Given the description of an element on the screen output the (x, y) to click on. 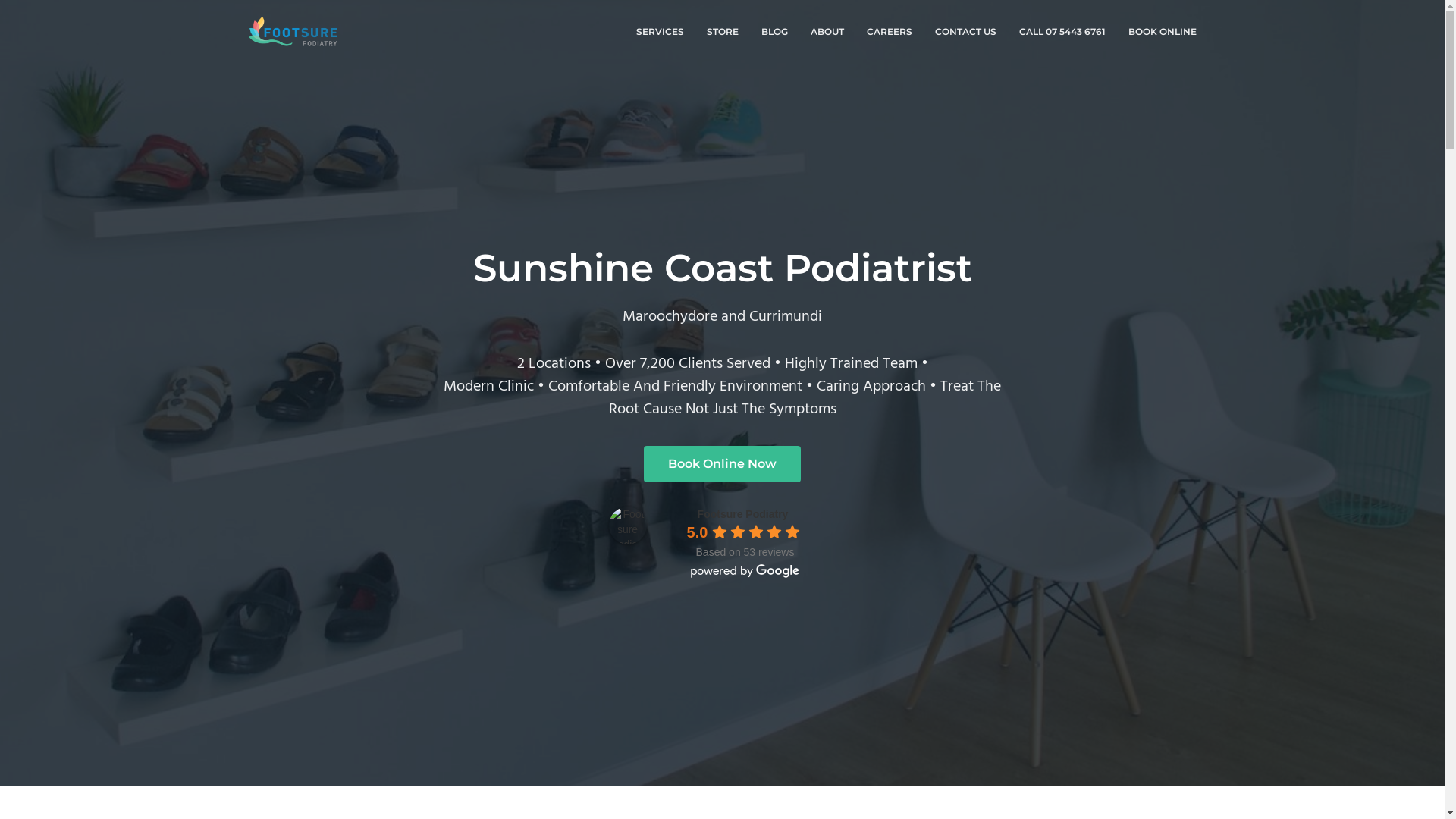
SERVICES Element type: text (659, 31)
BOOK ONLINE Element type: text (1161, 31)
CONTACT US Element type: text (965, 31)
BLOG Element type: text (773, 31)
Footsure Podiatry Element type: text (742, 514)
CALL 07 5443 6761 Element type: text (1061, 31)
ABOUT Element type: text (827, 31)
Skip to primary navigation Element type: text (0, 0)
Footsure Podiatry Element type: hover (627, 525)
powered by Google Element type: hover (744, 570)
Book Online Now Element type: text (721, 463)
STORE Element type: text (721, 31)
CAREERS Element type: text (889, 31)
